Given the description of an element on the screen output the (x, y) to click on. 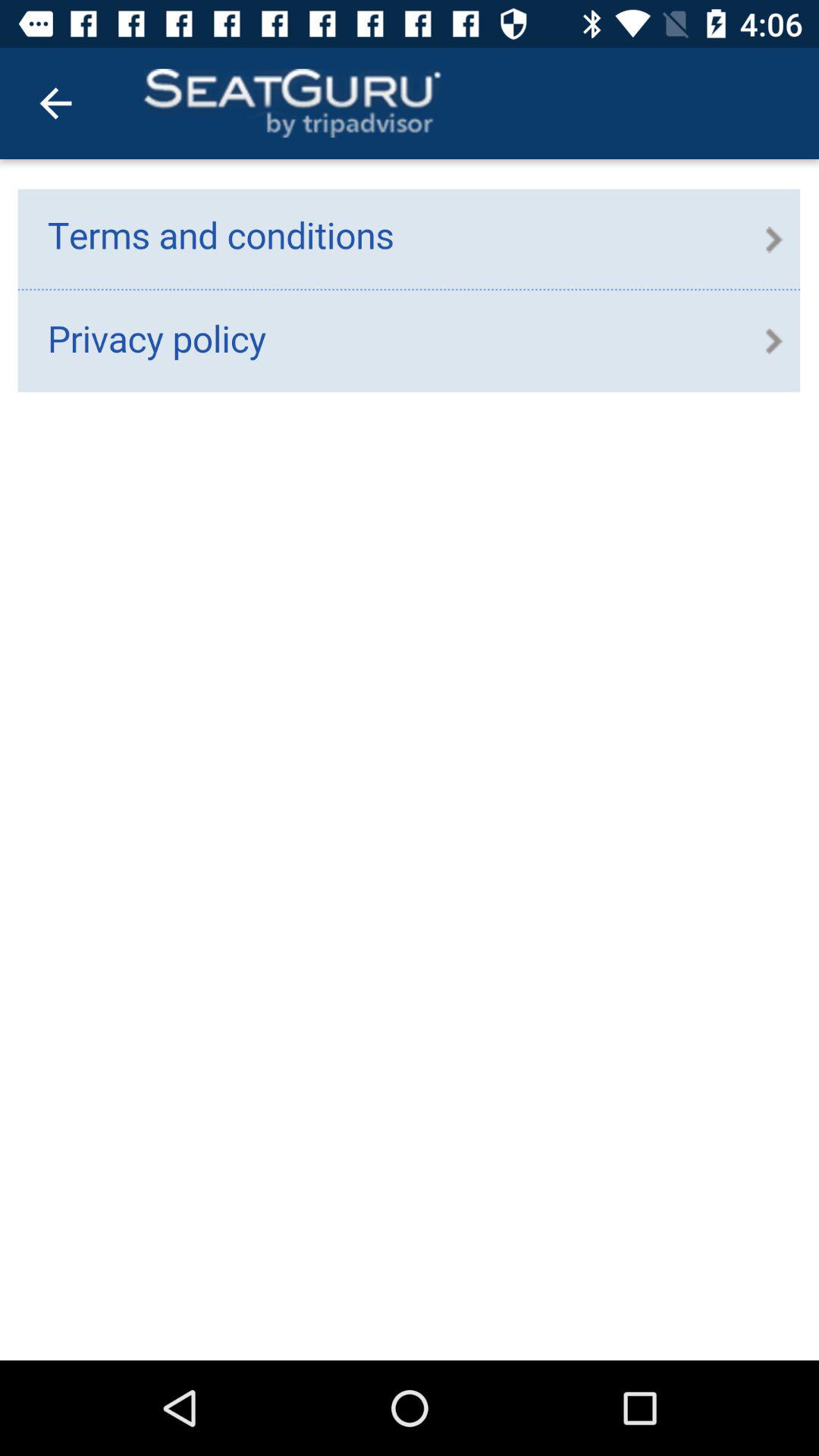
contains links to terms and conditions and privacy policy (409, 759)
